Given the description of an element on the screen output the (x, y) to click on. 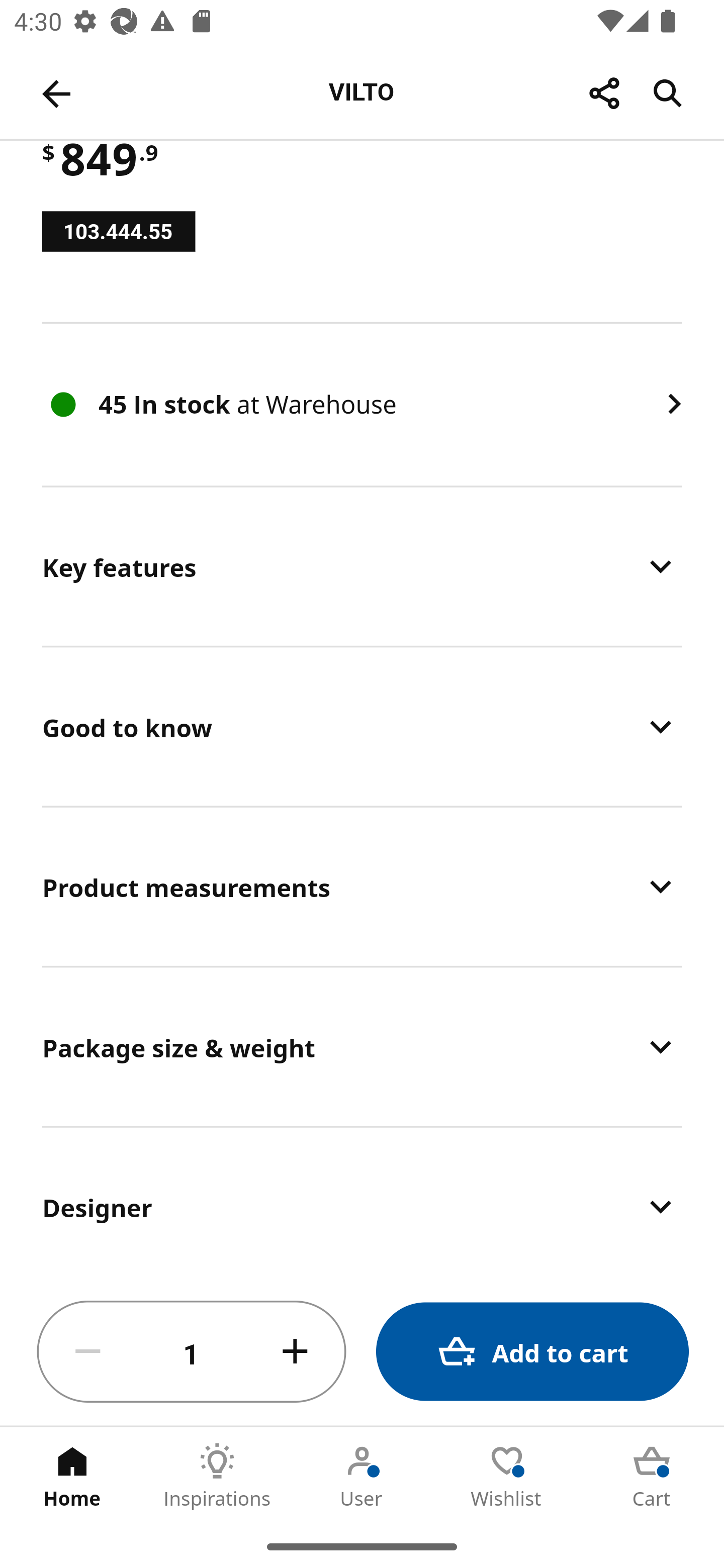
45 In stock at Warehouse (361, 404)
Key features (361, 566)
Good to know (361, 726)
Product measurements (361, 886)
Package size & weight (361, 1046)
Designer (361, 1202)
Add to cart (531, 1352)
1 (191, 1352)
Home
Tab 1 of 5 (72, 1476)
Inspirations
Tab 2 of 5 (216, 1476)
User
Tab 3 of 5 (361, 1476)
Wishlist
Tab 4 of 5 (506, 1476)
Cart
Tab 5 of 5 (651, 1476)
